Given the description of an element on the screen output the (x, y) to click on. 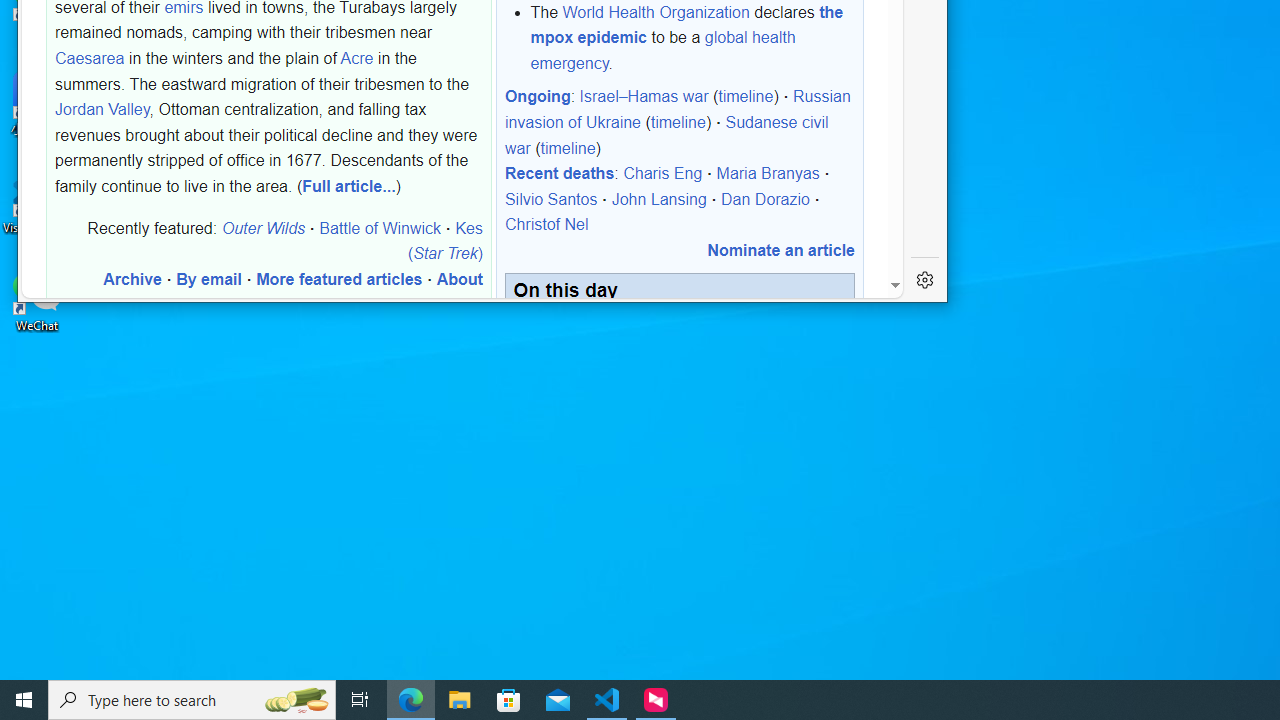
Visual Studio Code - 1 running window (607, 699)
Microsoft Store (509, 699)
Search highlights icon opens search home window (295, 699)
Task View (359, 699)
Microsoft Edge - 1 running window (411, 699)
File Explorer (460, 699)
Start (24, 699)
Type here to search (191, 699)
